Given the description of an element on the screen output the (x, y) to click on. 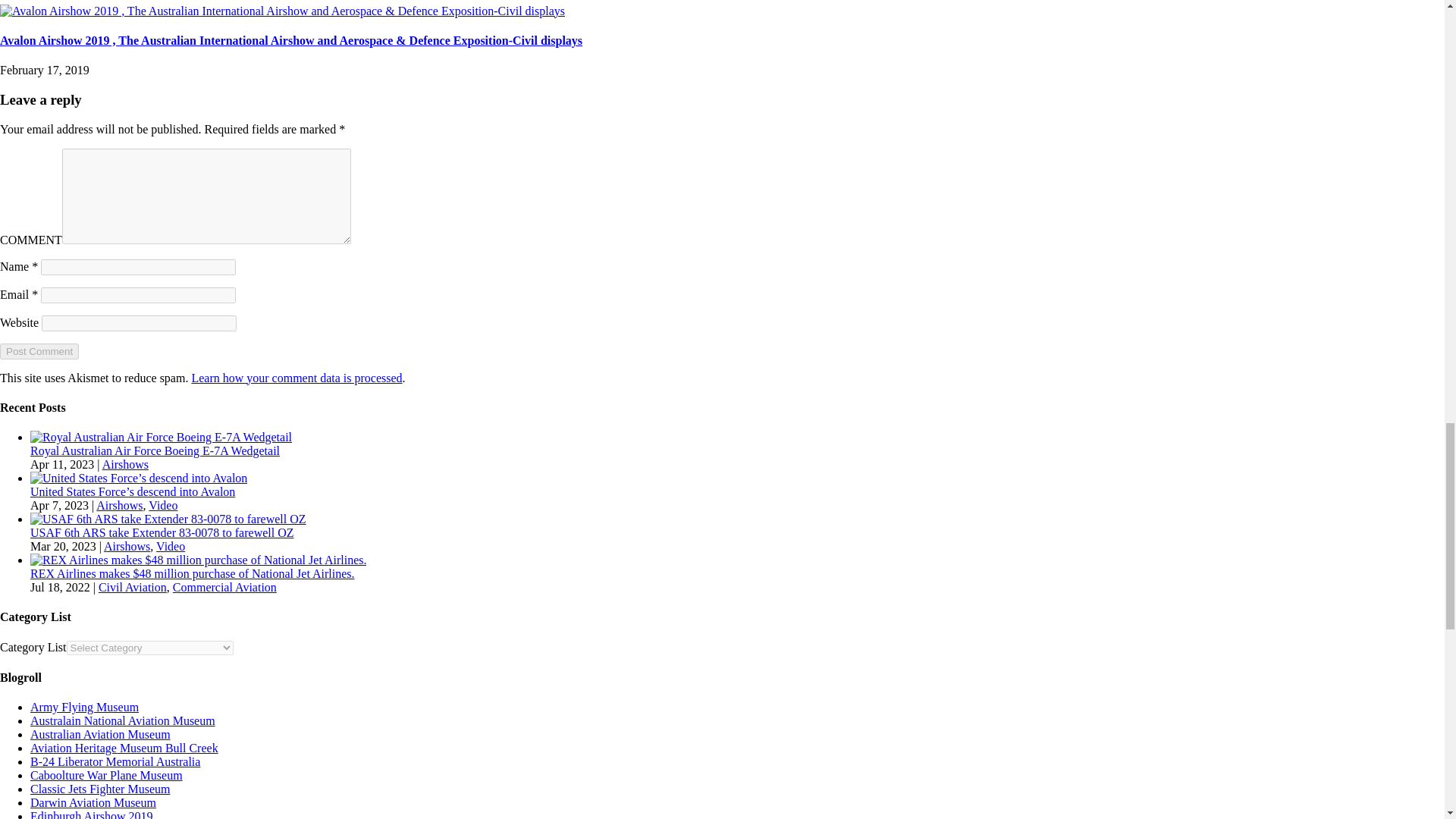
Post Comment (39, 351)
